Given the description of an element on the screen output the (x, y) to click on. 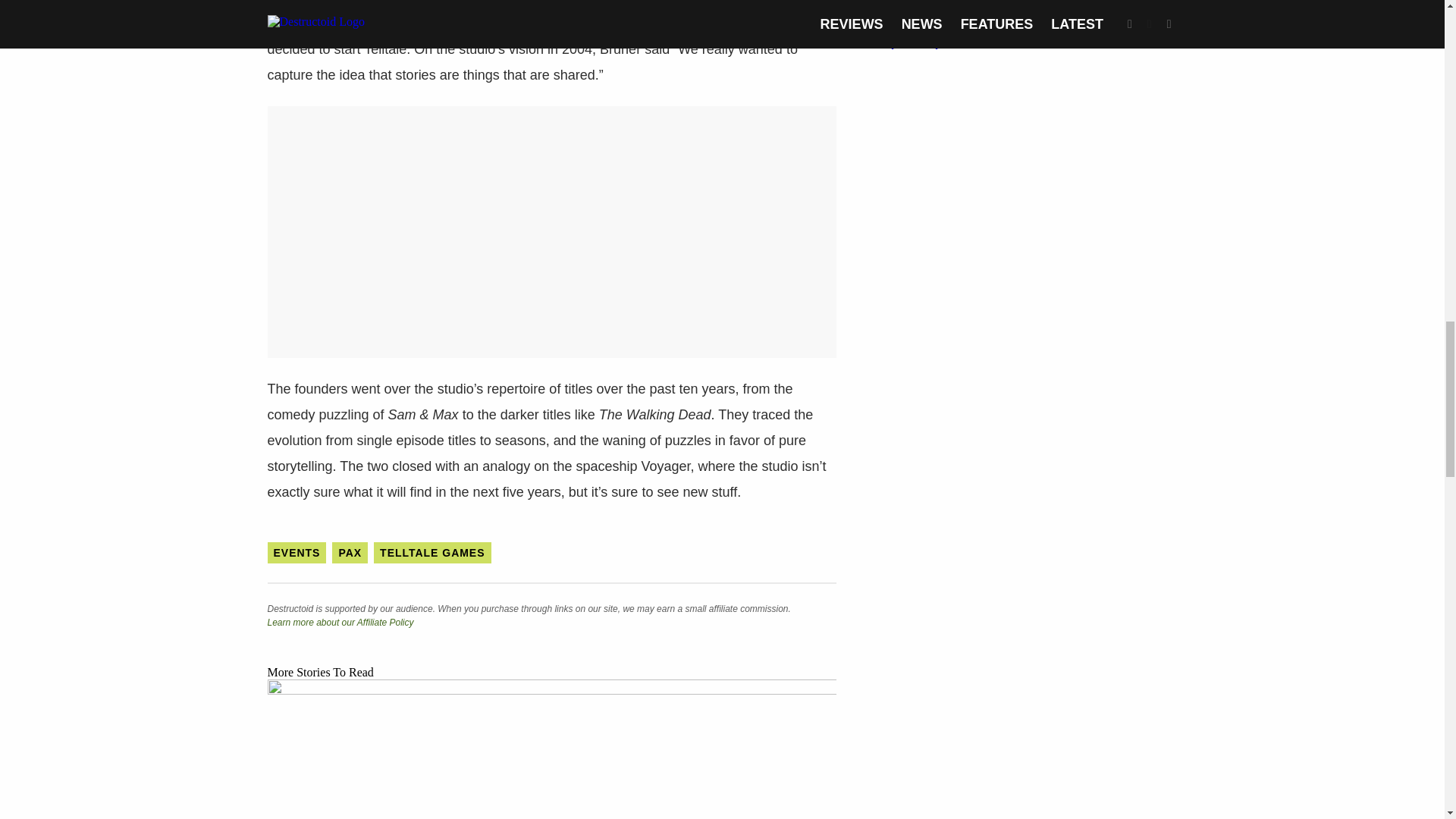
EVENTS (296, 552)
